Given the description of an element on the screen output the (x, y) to click on. 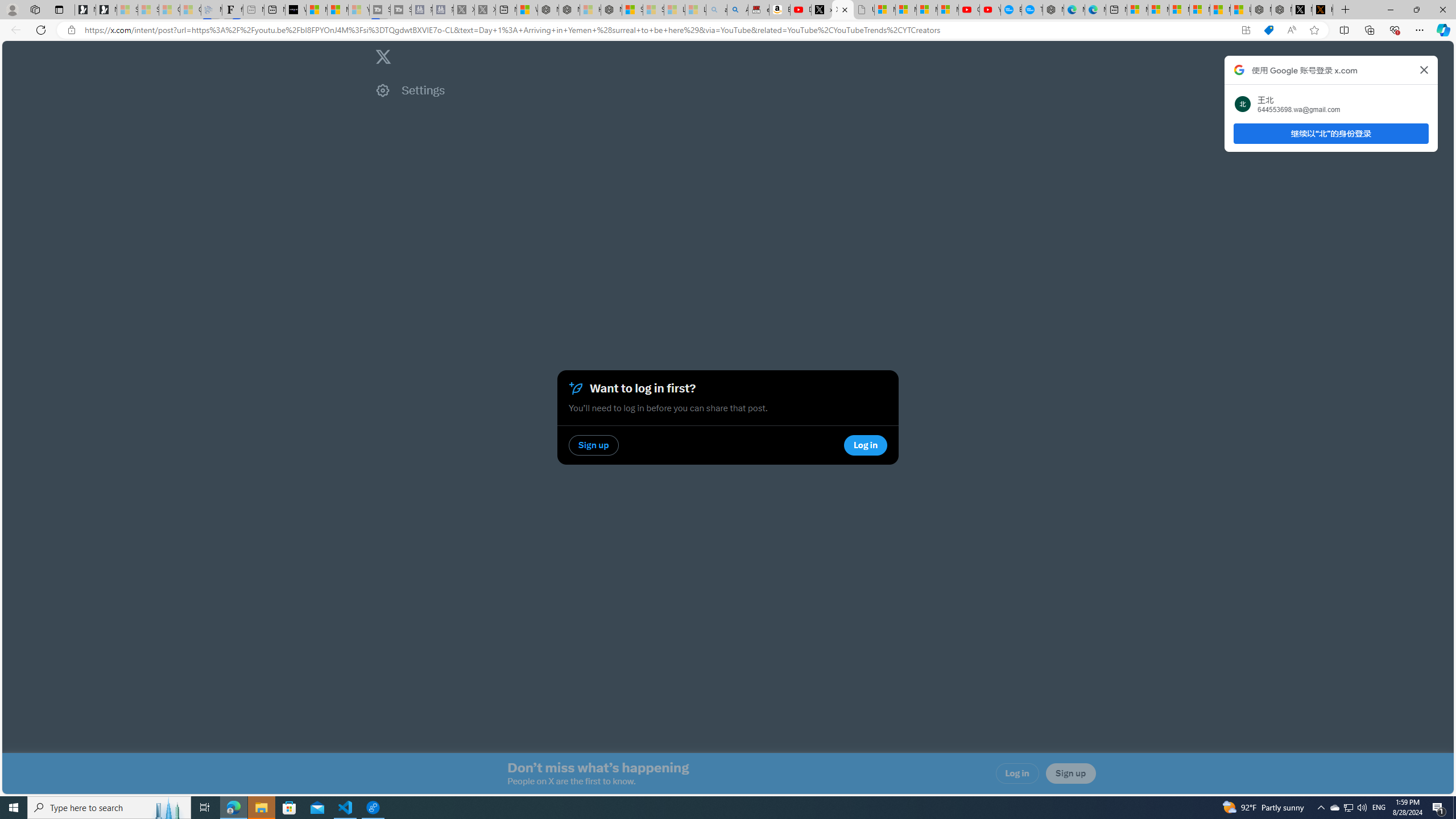
App available. Install X (1245, 29)
Sign up (1070, 773)
Nordace (@NordaceOfficial) / X (1302, 9)
